Given the description of an element on the screen output the (x, y) to click on. 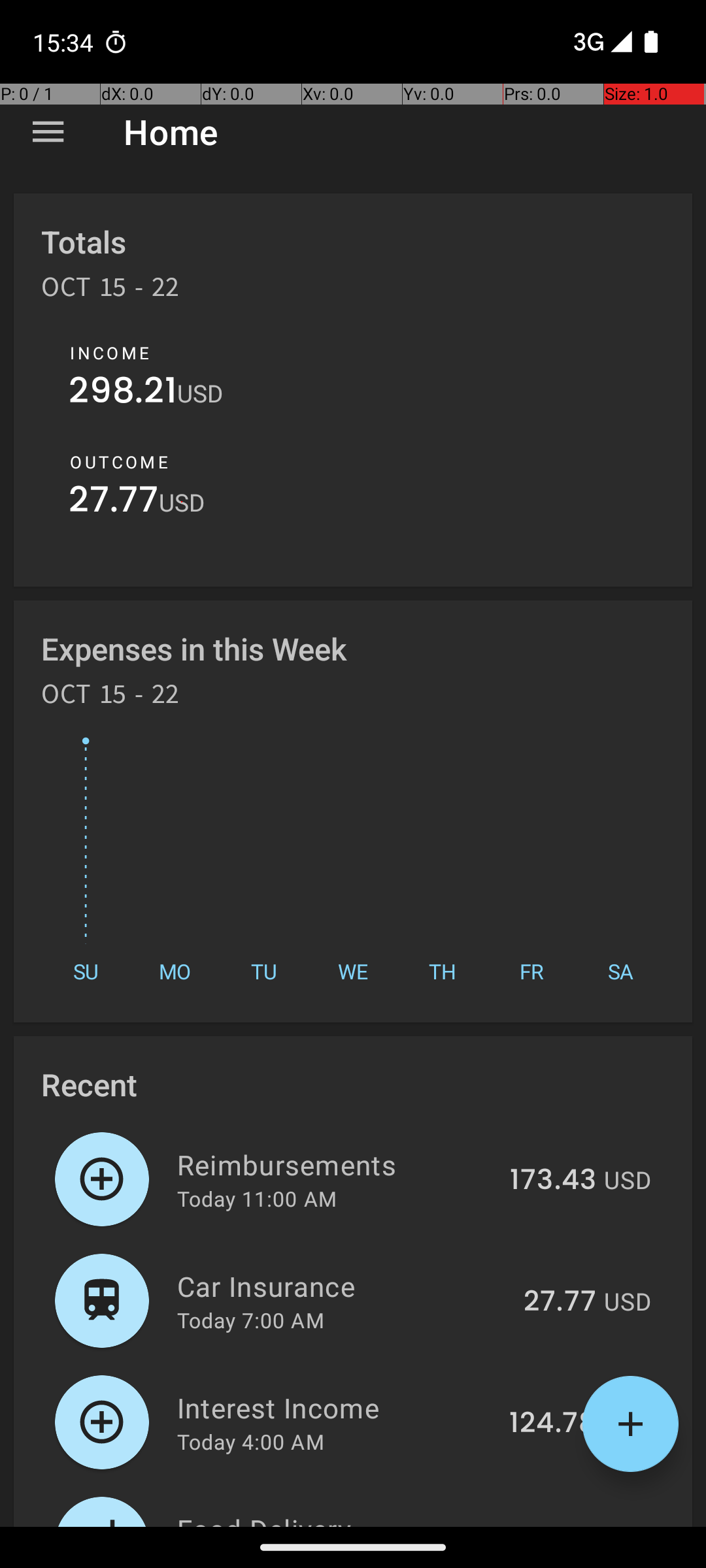
298.21 Element type: android.widget.TextView (122, 393)
27.77 Element type: android.widget.TextView (113, 502)
Reimbursements Element type: android.widget.TextView (335, 1164)
173.43 Element type: android.widget.TextView (552, 1180)
Car Insurance Element type: android.widget.TextView (342, 1285)
Today 7:00 AM Element type: android.widget.TextView (250, 1320)
Today 4:00 AM Element type: android.widget.TextView (250, 1441)
124.78 Element type: android.widget.TextView (552, 1423)
Food Delivery Element type: android.widget.TextView (334, 1518)
331.44 Element type: android.widget.TextView (551, 1524)
